Given the description of an element on the screen output the (x, y) to click on. 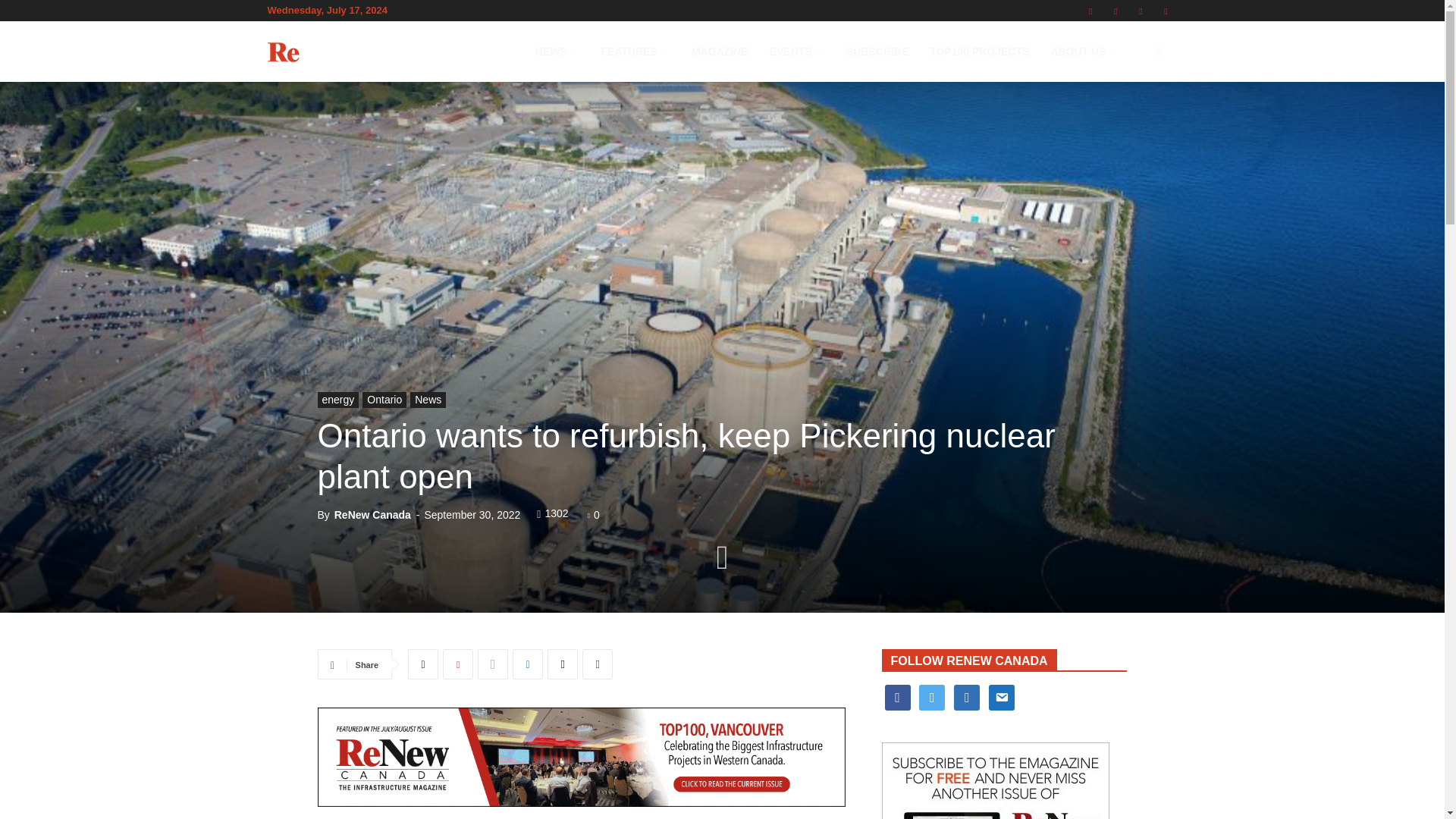
Youtube (1165, 10)
RSS (1114, 10)
ReNew Canada (351, 51)
NEWS (557, 51)
Linkedin (1090, 10)
Search (1134, 124)
Twitter (1140, 10)
